Given the description of an element on the screen output the (x, y) to click on. 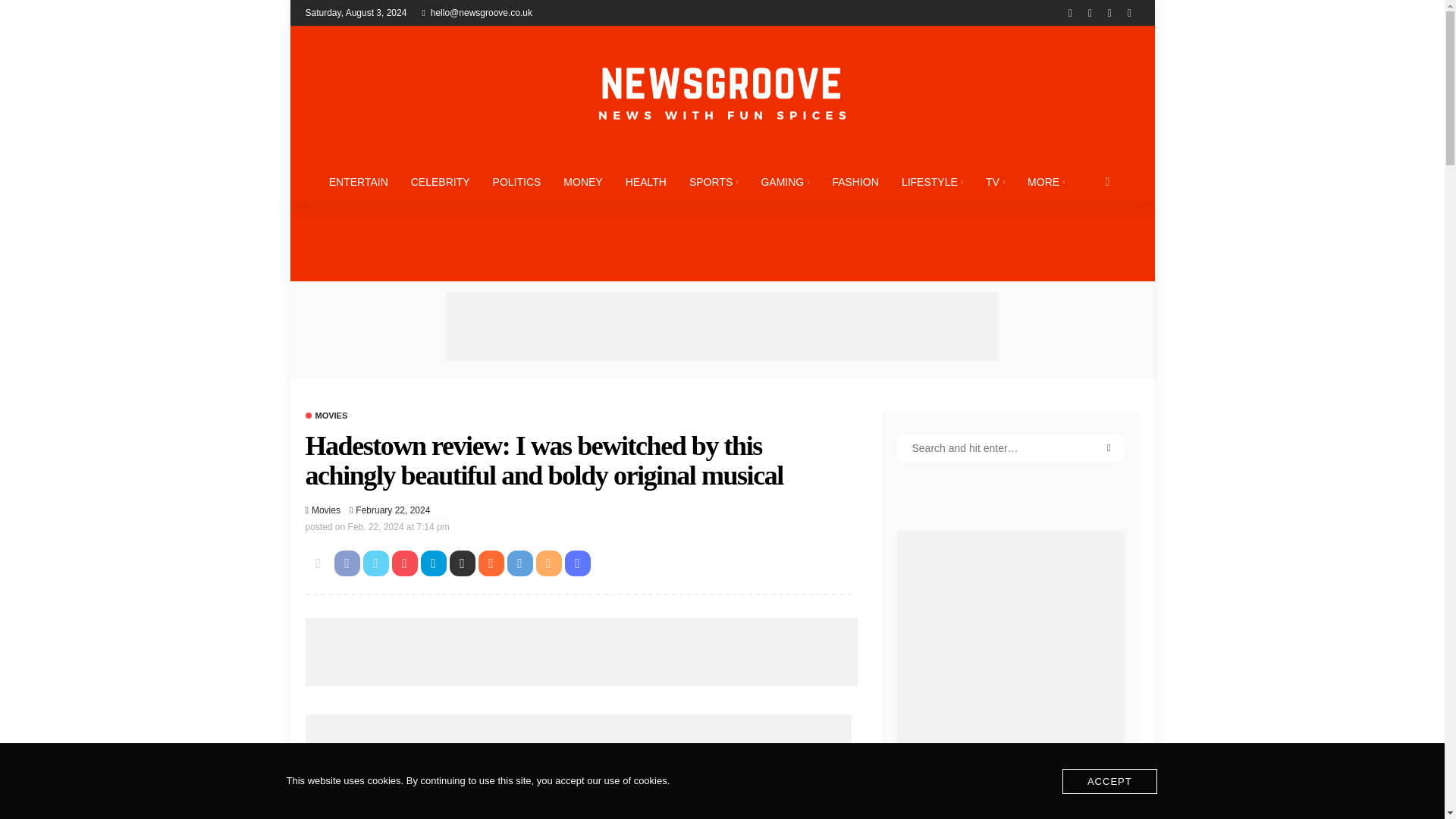
Movies (325, 509)
NewsGroove Uk (721, 93)
MONEY (581, 181)
SPORTS (713, 181)
Movies (325, 415)
HEALTH (646, 181)
GAMING (785, 181)
CELEBRITY (439, 181)
ENTERTAIN (357, 181)
Advertisement (580, 652)
